Given the description of an element on the screen output the (x, y) to click on. 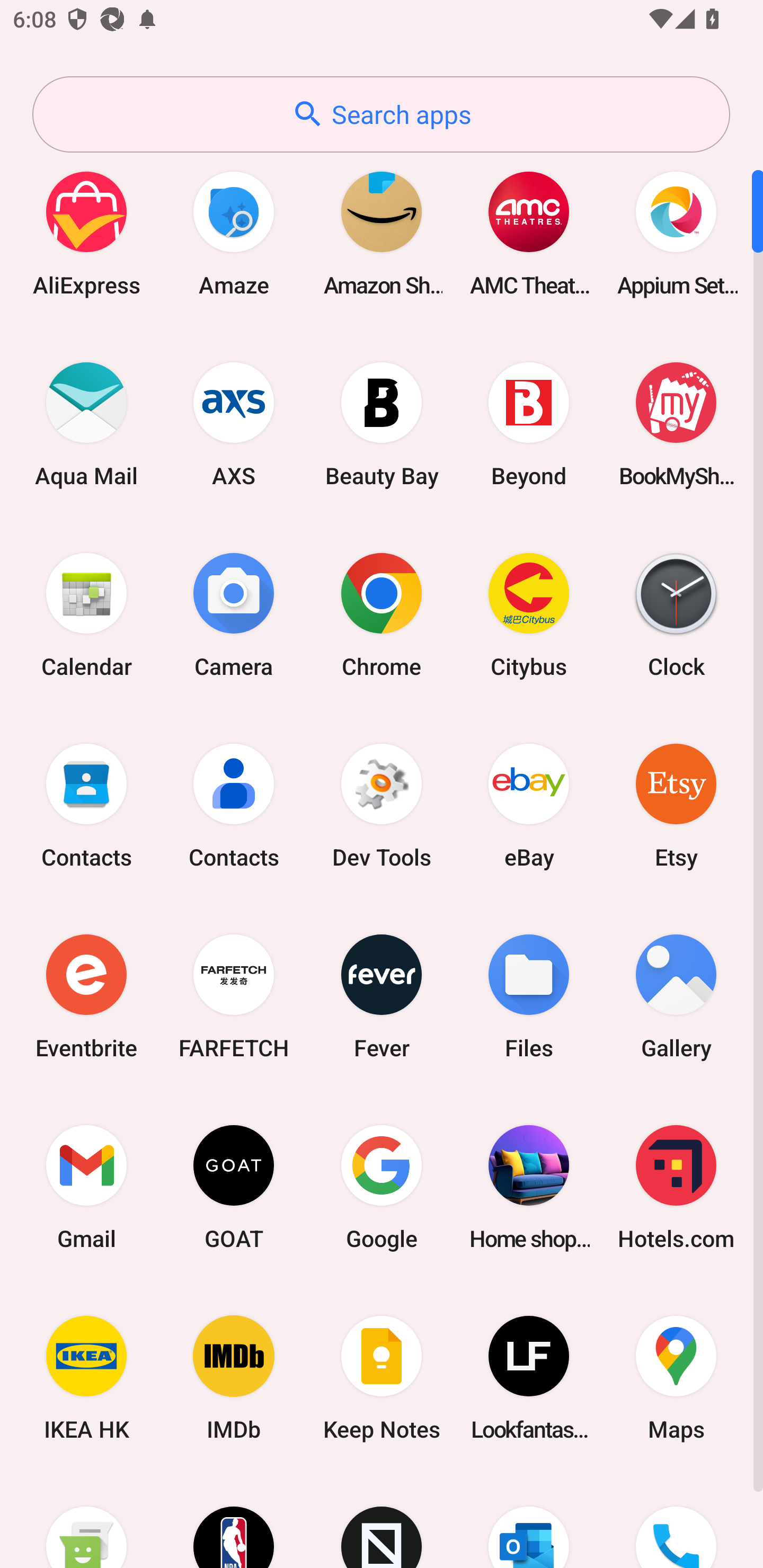
  Search apps (381, 114)
AliExpress (86, 233)
Amaze (233, 233)
Amazon Shopping (381, 233)
AMC Theatres (528, 233)
Appium Settings (676, 233)
Aqua Mail (86, 424)
AXS (233, 424)
Beauty Bay (381, 424)
Beyond (528, 424)
BookMyShow (676, 424)
Calendar (86, 614)
Camera (233, 614)
Chrome (381, 614)
Citybus (528, 614)
Clock (676, 614)
Contacts (86, 805)
Contacts (233, 805)
Dev Tools (381, 805)
eBay (528, 805)
Etsy (676, 805)
Eventbrite (86, 996)
FARFETCH (233, 996)
Fever (381, 996)
Files (528, 996)
Gallery (676, 996)
Gmail (86, 1186)
GOAT (233, 1186)
Google (381, 1186)
Home shopping (528, 1186)
Hotels.com (676, 1186)
IKEA HK (86, 1377)
IMDb (233, 1377)
Keep Notes (381, 1377)
Lookfantastic (528, 1377)
Maps (676, 1377)
